Given the description of an element on the screen output the (x, y) to click on. 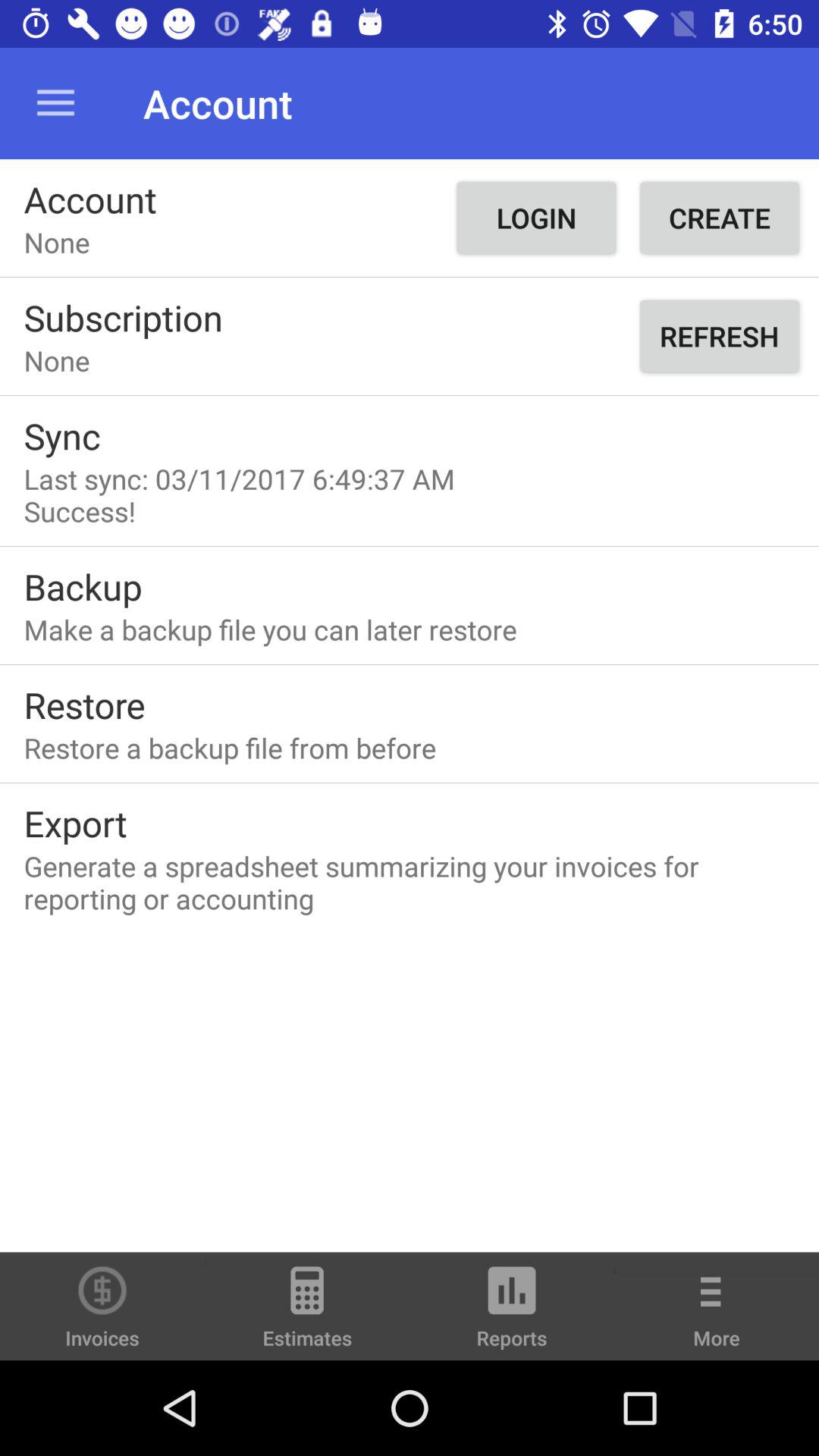
open item at the bottom right corner (716, 1317)
